Given the description of an element on the screen output the (x, y) to click on. 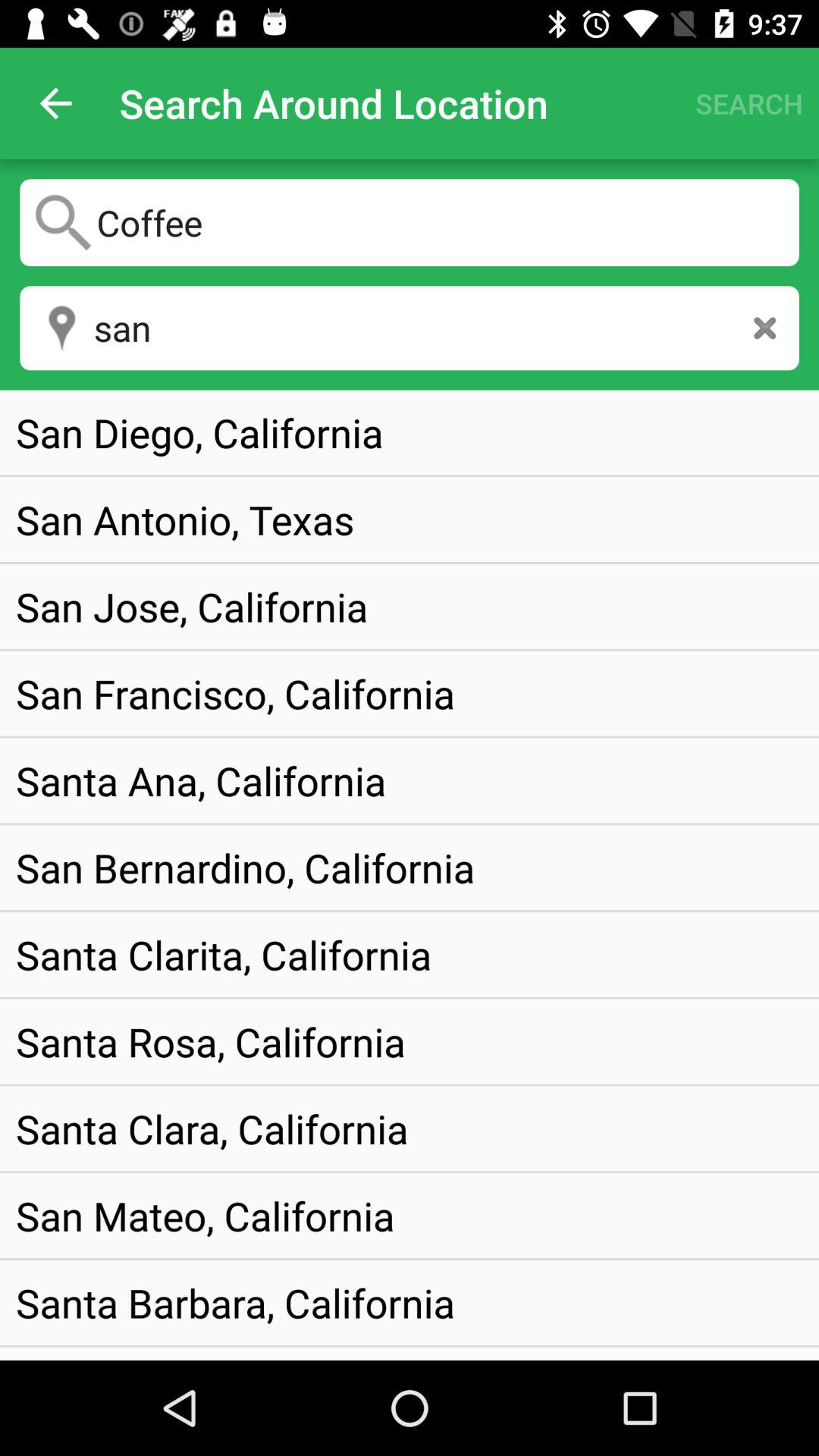
launch san bernardino, california item (245, 867)
